Given the description of an element on the screen output the (x, y) to click on. 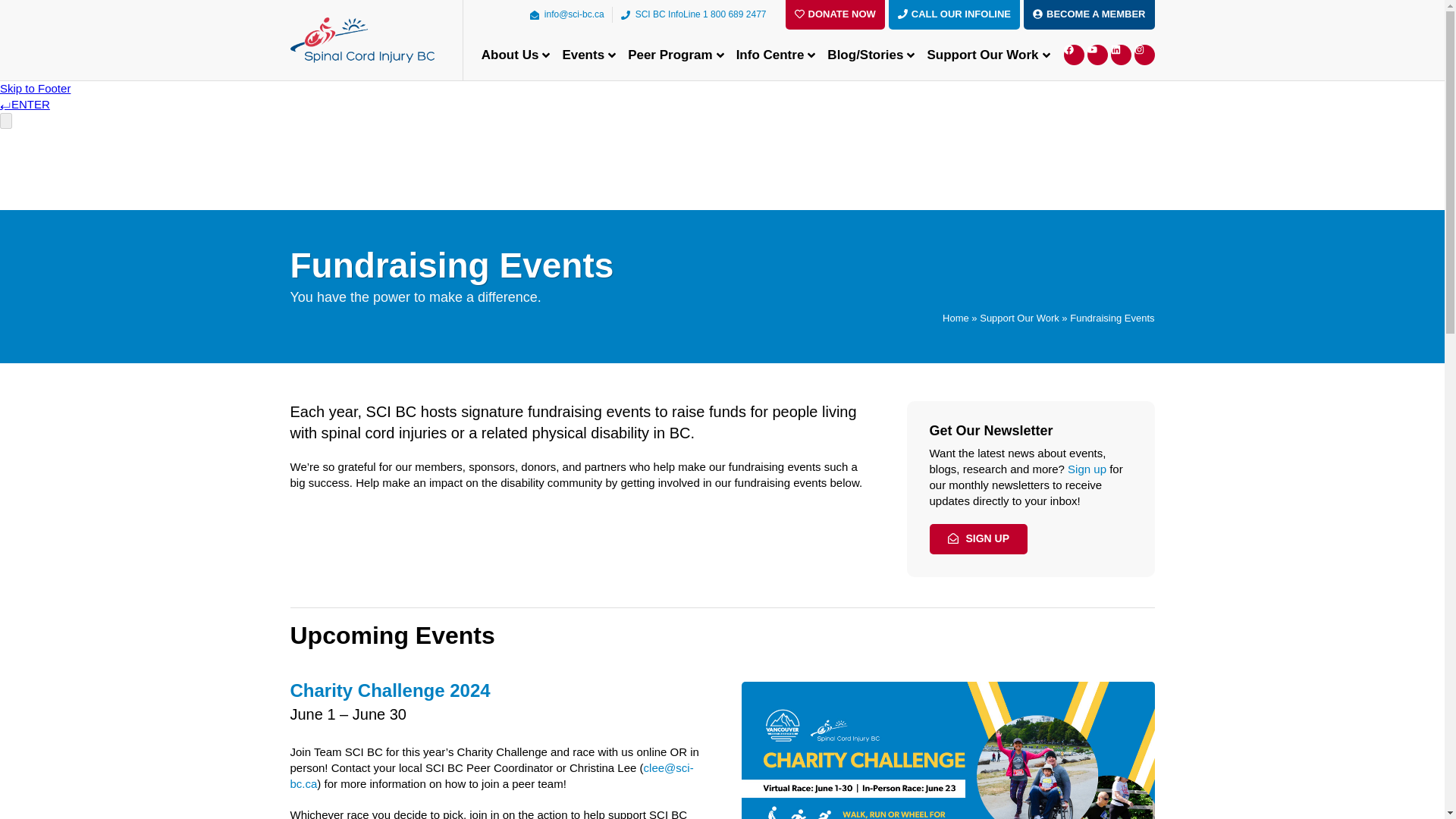
Peer Program (675, 54)
BECOME A MEMBER (1088, 14)
SCI BC InfoLine 1 800 689 2477 (693, 14)
CALL OUR INFOLINE (954, 14)
DONATE NOW (835, 14)
About Us (516, 54)
Events (588, 54)
